Given the description of an element on the screen output the (x, y) to click on. 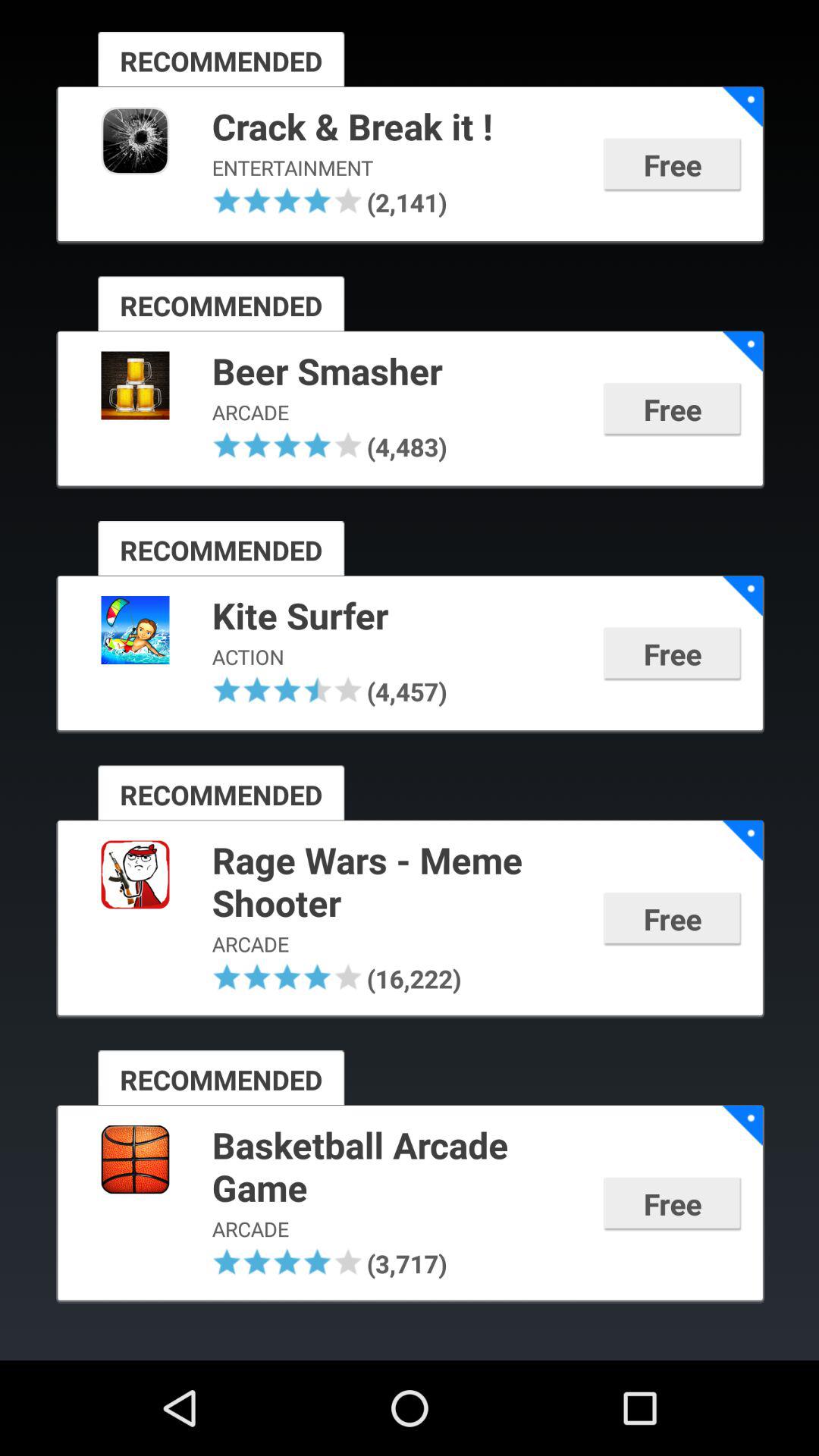
click item above the recommended icon (257, 444)
